Given the description of an element on the screen output the (x, y) to click on. 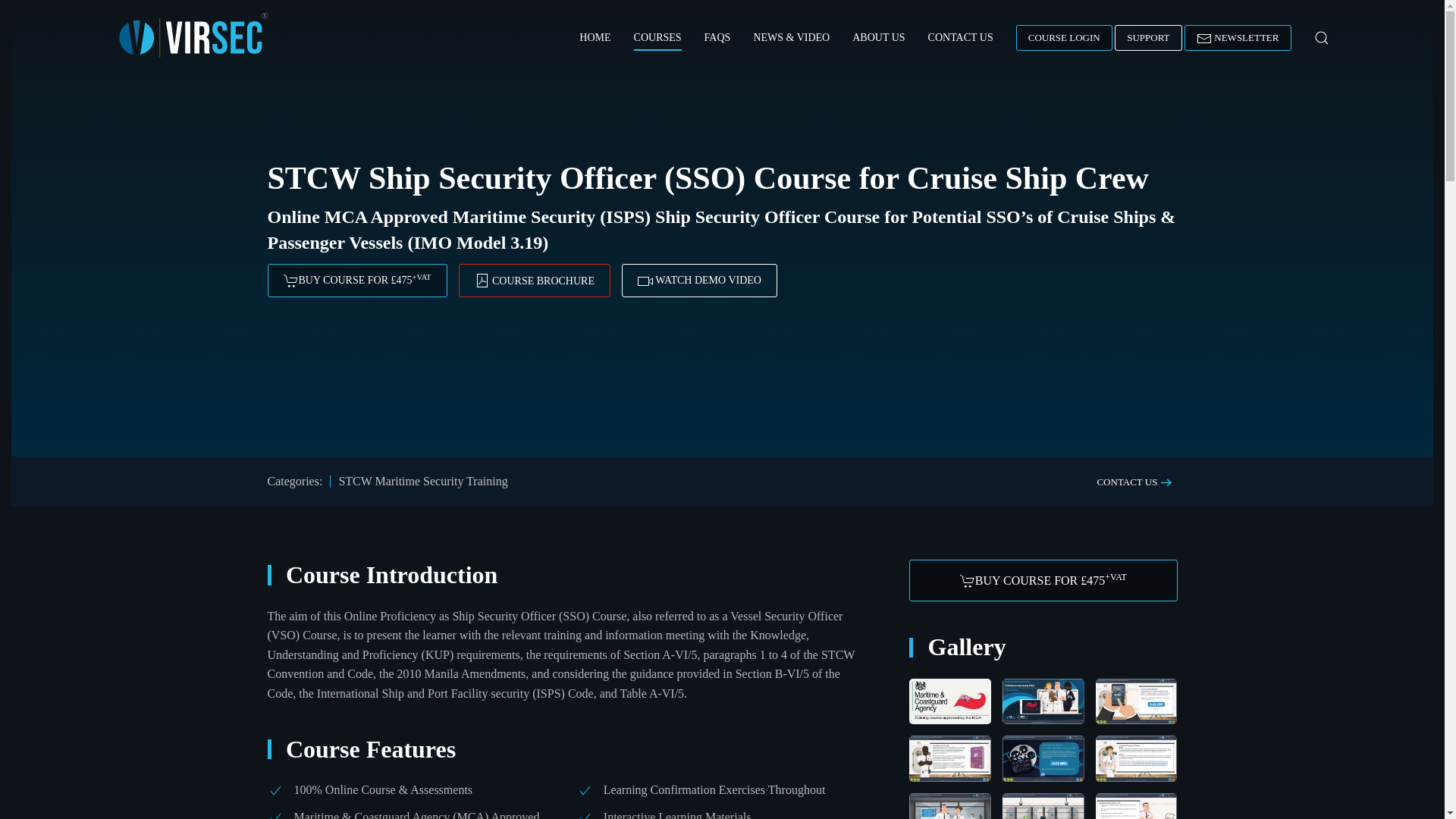
Gallery (1042, 647)
Course Introduction (561, 575)
Course Features (561, 749)
